Given the description of an element on the screen output the (x, y) to click on. 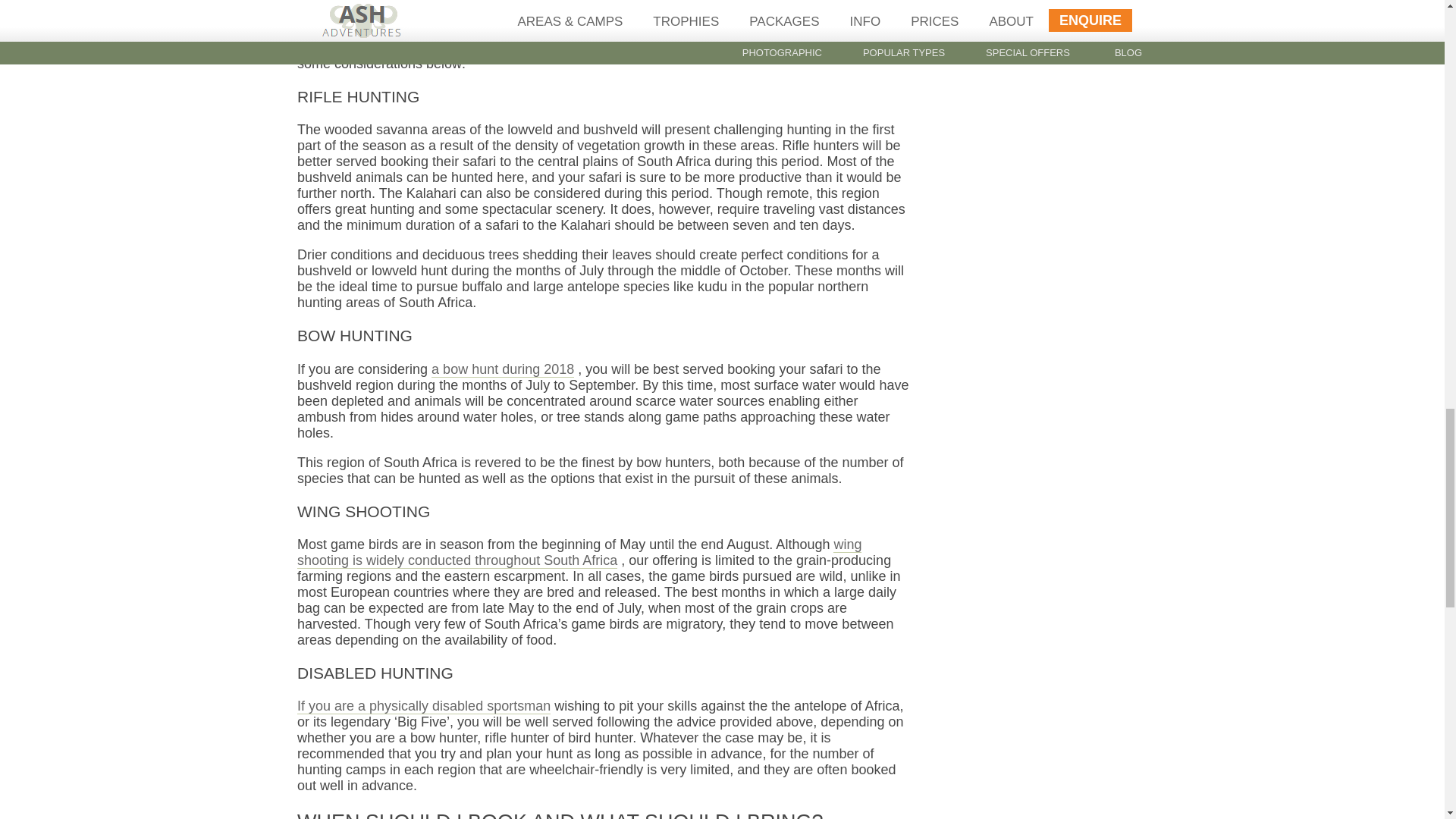
a bow hunt during 2018 (501, 368)
wing shooting is widely conducted throughout South Africa (579, 552)
If you are a physically disabled sportsman (423, 706)
